Given the description of an element on the screen output the (x, y) to click on. 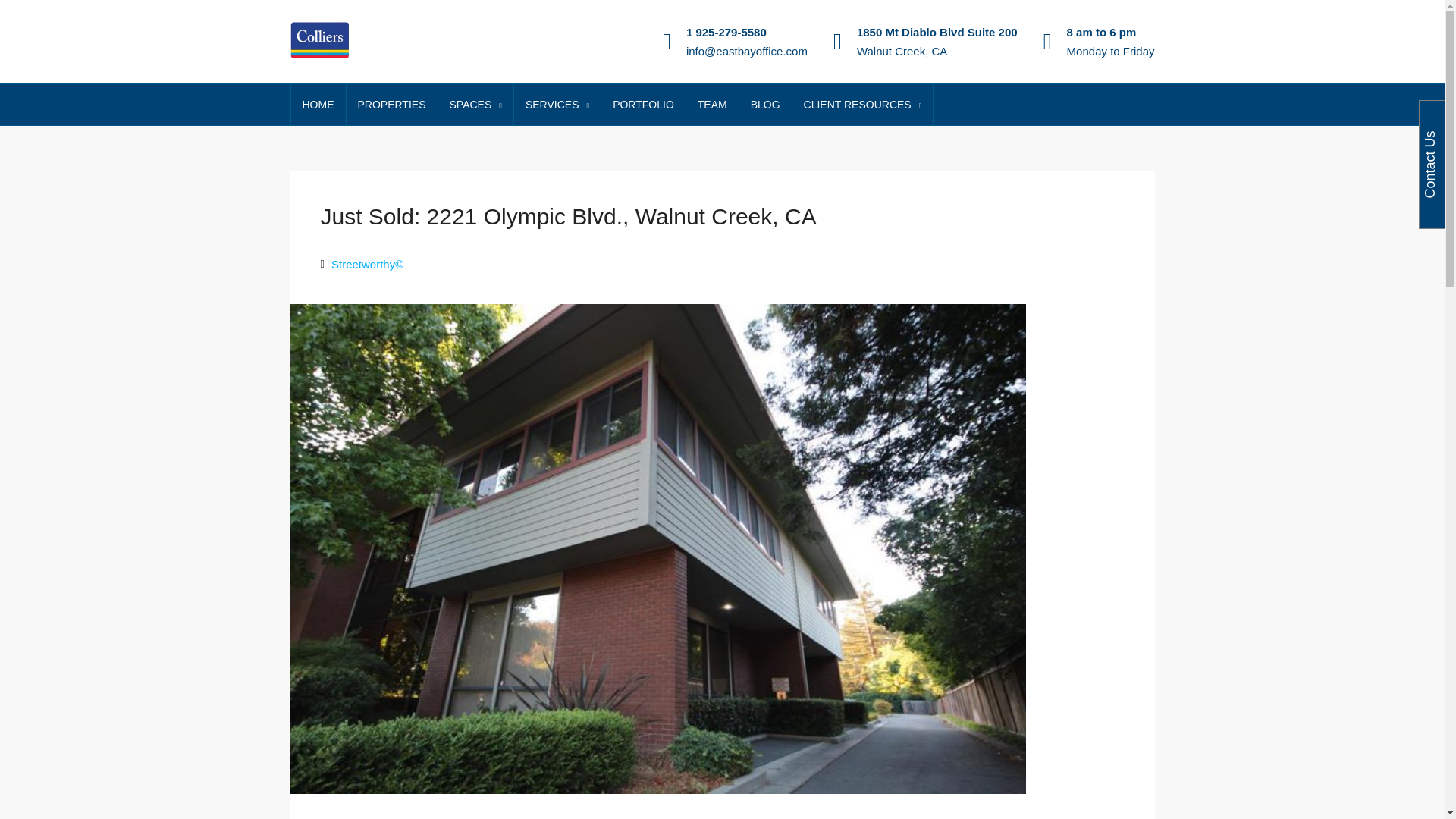
PROPERTIES (391, 104)
SERVICES (556, 105)
1 925-279-5580 (726, 31)
SPACES (475, 105)
HOME (318, 104)
